Given the description of an element on the screen output the (x, y) to click on. 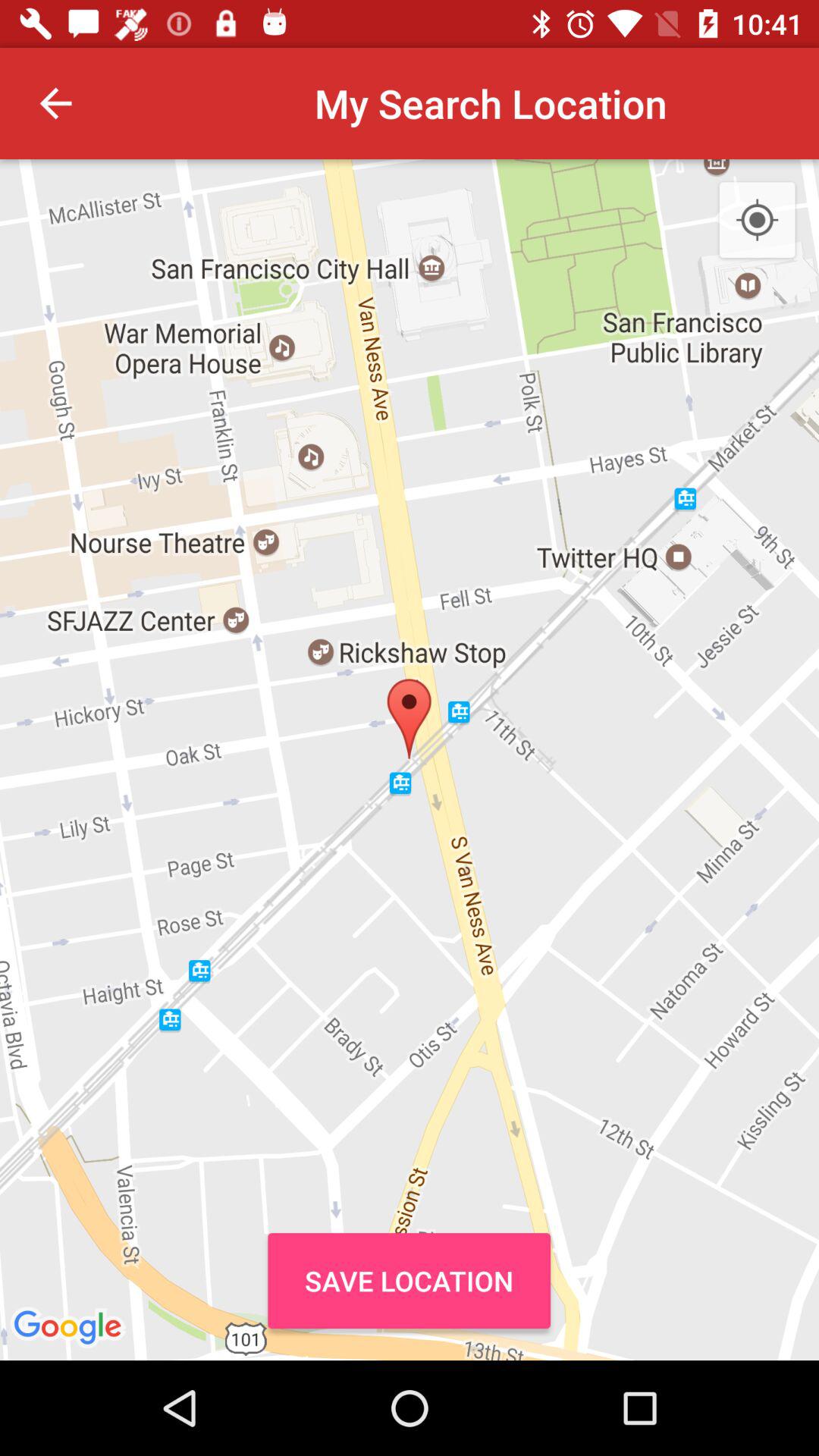
turn on item next to my search location item (55, 103)
